Given the description of an element on the screen output the (x, y) to click on. 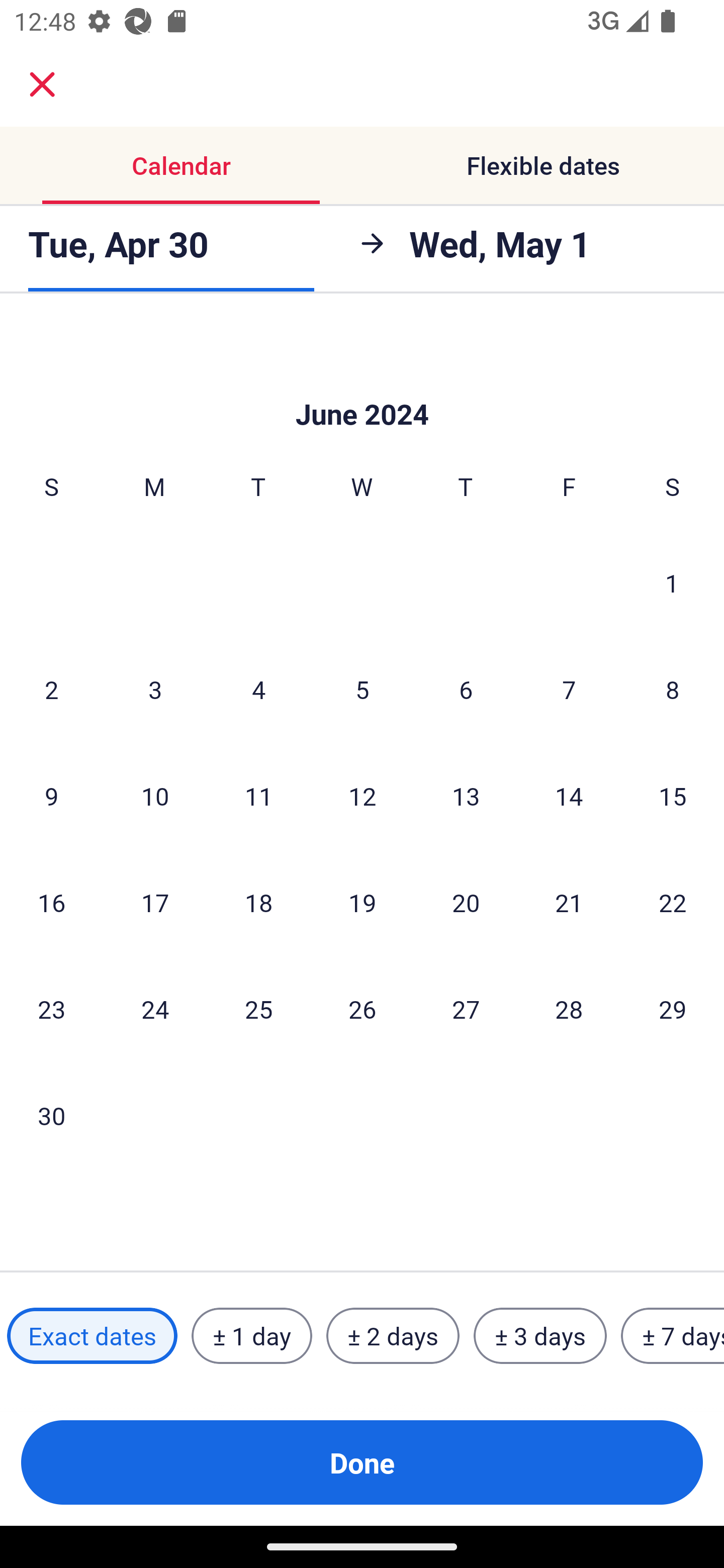
close. (42, 84)
Flexible dates (542, 164)
Skip to Done (362, 383)
1 Saturday, June 1, 2024 (672, 582)
2 Sunday, June 2, 2024 (51, 689)
3 Monday, June 3, 2024 (155, 689)
4 Tuesday, June 4, 2024 (258, 689)
5 Wednesday, June 5, 2024 (362, 689)
6 Thursday, June 6, 2024 (465, 689)
7 Friday, June 7, 2024 (569, 689)
8 Saturday, June 8, 2024 (672, 689)
9 Sunday, June 9, 2024 (51, 795)
10 Monday, June 10, 2024 (155, 795)
11 Tuesday, June 11, 2024 (258, 795)
12 Wednesday, June 12, 2024 (362, 795)
13 Thursday, June 13, 2024 (465, 795)
14 Friday, June 14, 2024 (569, 795)
15 Saturday, June 15, 2024 (672, 795)
16 Sunday, June 16, 2024 (51, 902)
17 Monday, June 17, 2024 (155, 902)
18 Tuesday, June 18, 2024 (258, 902)
19 Wednesday, June 19, 2024 (362, 902)
20 Thursday, June 20, 2024 (465, 902)
21 Friday, June 21, 2024 (569, 902)
22 Saturday, June 22, 2024 (672, 902)
23 Sunday, June 23, 2024 (51, 1008)
24 Monday, June 24, 2024 (155, 1008)
25 Tuesday, June 25, 2024 (258, 1008)
26 Wednesday, June 26, 2024 (362, 1008)
27 Thursday, June 27, 2024 (465, 1008)
28 Friday, June 28, 2024 (569, 1008)
29 Saturday, June 29, 2024 (672, 1008)
30 Sunday, June 30, 2024 (51, 1115)
Exact dates (92, 1335)
± 1 day (251, 1335)
± 2 days (392, 1335)
± 3 days (539, 1335)
± 7 days (672, 1335)
Done (361, 1462)
